Given the description of an element on the screen output the (x, y) to click on. 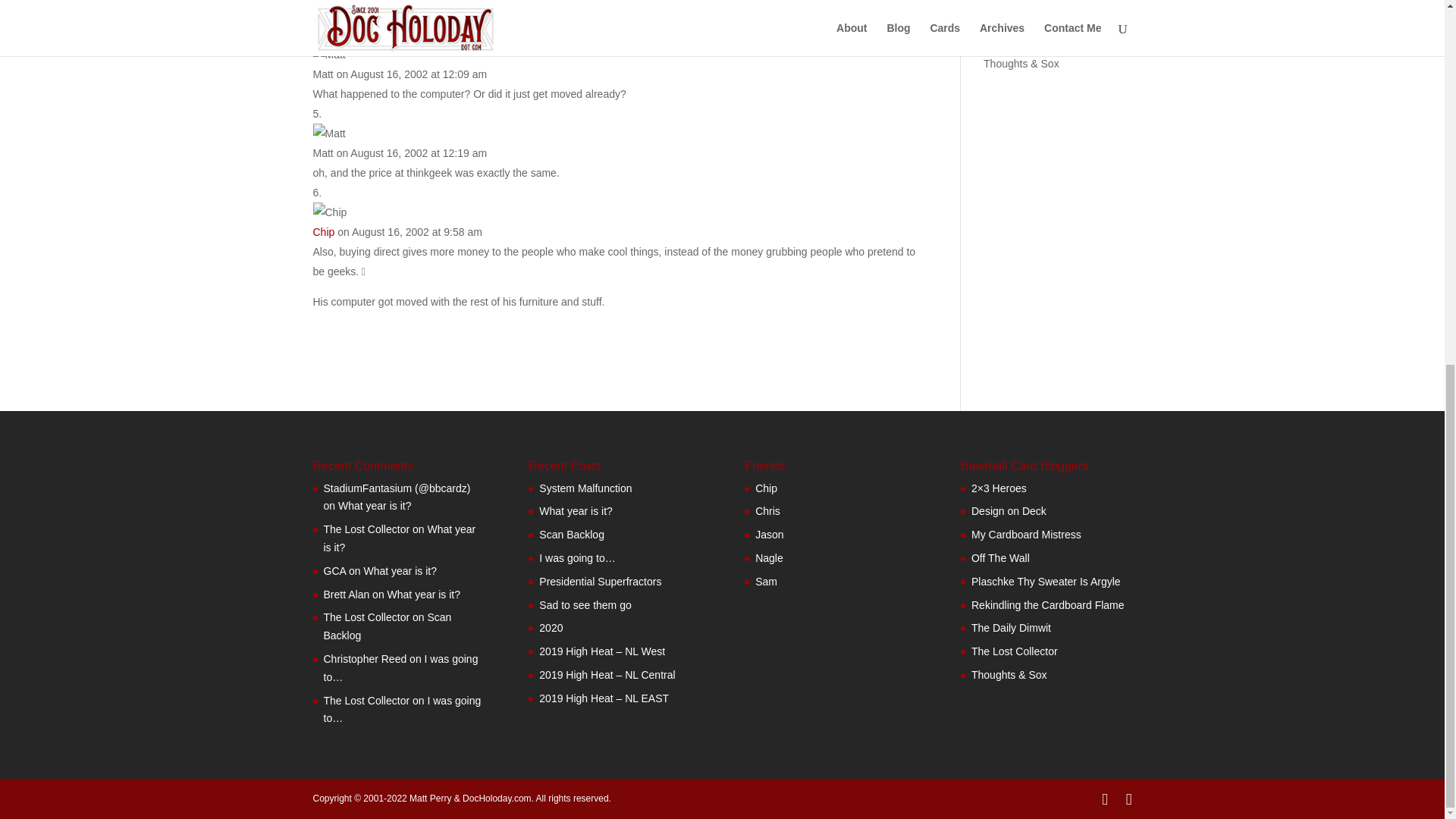
GCA (334, 571)
What year is it? (399, 538)
The Daily Dimwit (766, 581)
What year is it? (398, 571)
Chip (323, 232)
Scan Backlog (387, 625)
What year is it? (373, 505)
The Daily Dimwit (1023, 17)
The Lost Collector (1027, 40)
What year is it? (423, 594)
